Given the description of an element on the screen output the (x, y) to click on. 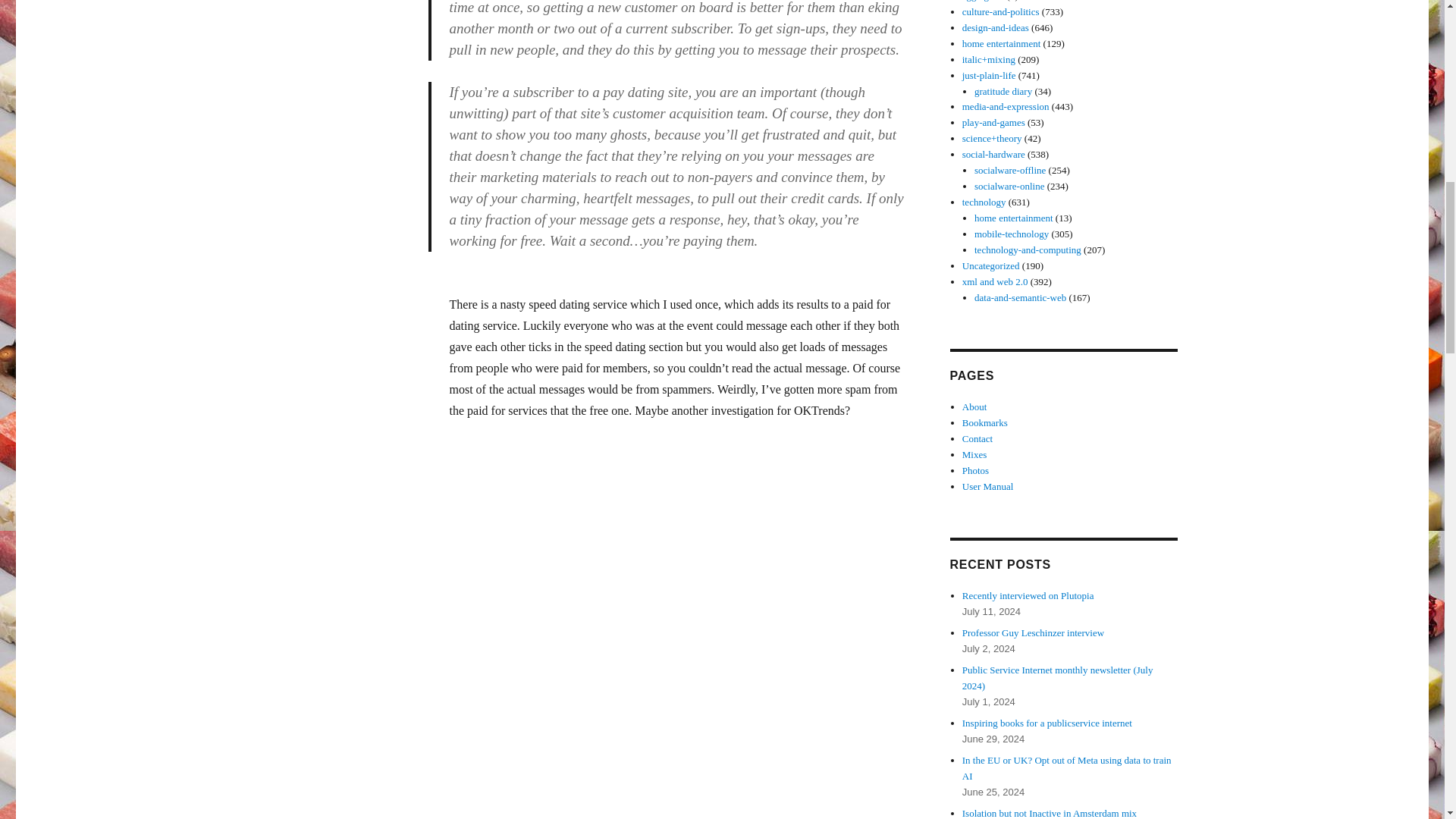
social-hardware (993, 153)
culture-and-politics (1000, 11)
home entertainment (1013, 217)
design-and-ideas (995, 27)
play-and-games (993, 122)
socialware-online (1008, 185)
data-and-semantic-web (1019, 297)
Uncategorized (991, 265)
just-plain-life (989, 75)
technology-and-computing (1027, 249)
aggregator (983, 0)
gratitude diary (1003, 90)
technology (984, 202)
media-and-expression (1005, 106)
socialware-offline (1009, 170)
